Given the description of an element on the screen output the (x, y) to click on. 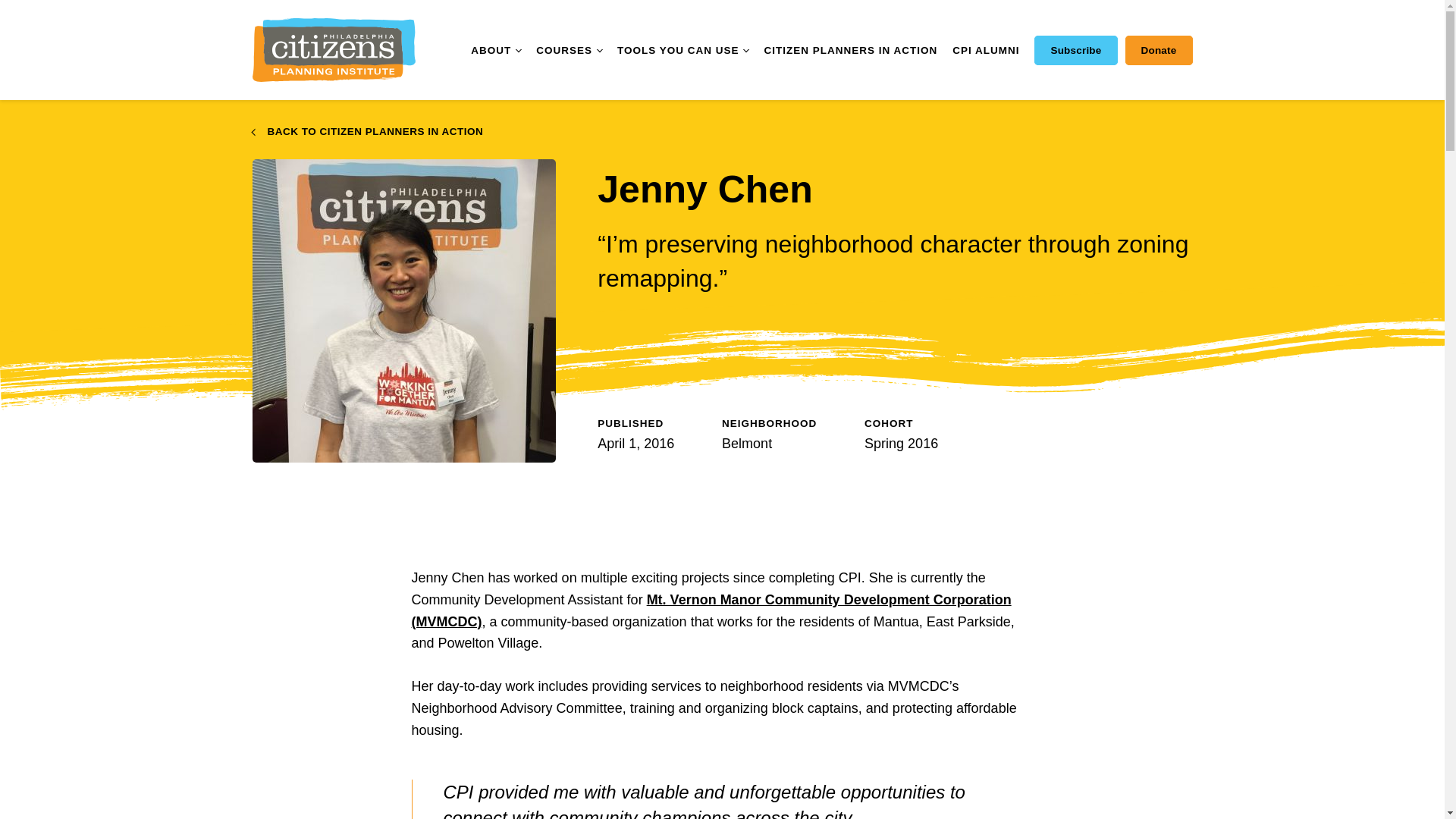
Donate (1158, 50)
COURSES (568, 49)
BACK TO CITIZEN PLANNERS IN ACTION (367, 132)
TOOLS YOU CAN USE (683, 49)
Subscribe (1074, 50)
CPI ALUMNI (985, 50)
CITIZEN PLANNERS IN ACTION (849, 50)
ABOUT (495, 49)
